Given the description of an element on the screen output the (x, y) to click on. 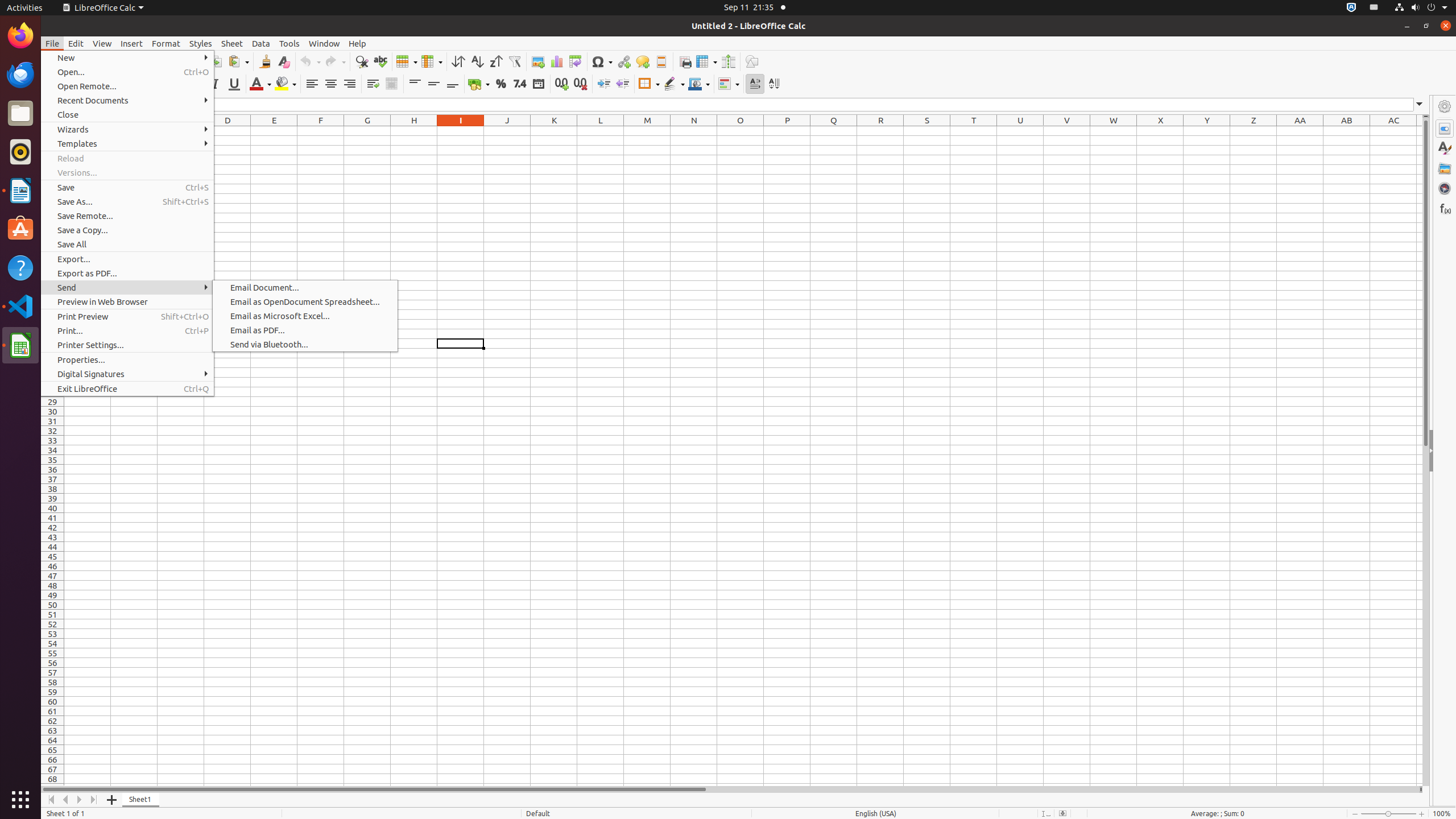
Percent Element type: push-button (500, 83)
Preview in Web Browser Element type: menu-item (126, 301)
Align Top Element type: push-button (414, 83)
Sheet Element type: menu (231, 43)
Templates Element type: menu (126, 143)
